Given the description of an element on the screen output the (x, y) to click on. 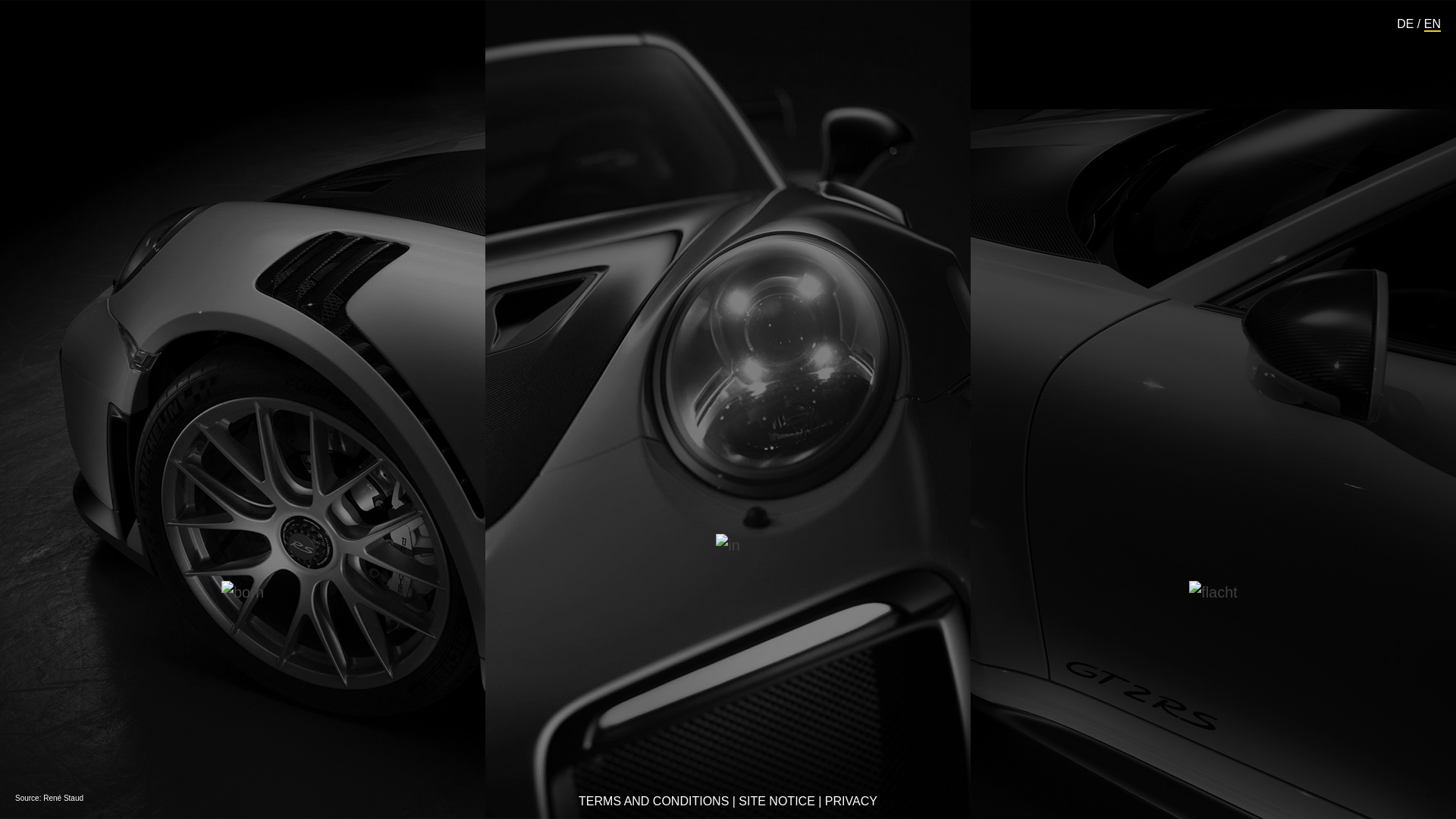
EN (1432, 23)
DE (1404, 23)
